Given the description of an element on the screen output the (x, y) to click on. 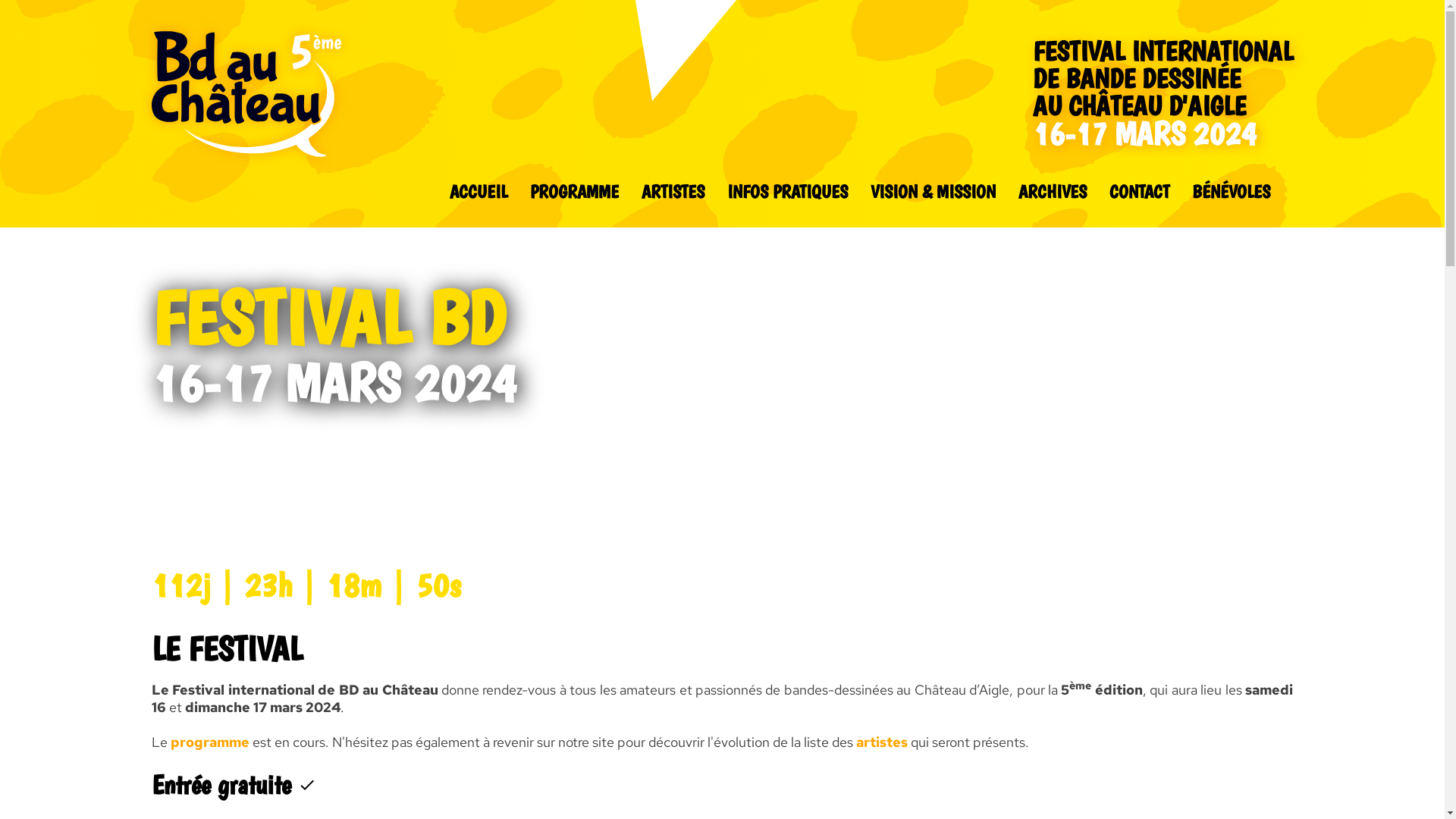
programme Element type: text (209, 741)
INFOS PRATIQUES Element type: text (787, 191)
ACCUEIL Element type: text (478, 191)
artistes Element type: text (881, 741)
ARTISTES Element type: text (672, 191)
CONTACT Element type: text (1139, 191)
VISION & MISSION Element type: text (932, 191)
ARCHIVES Element type: text (1052, 191)
PROGRAMME Element type: text (574, 191)
